Given the description of an element on the screen output the (x, y) to click on. 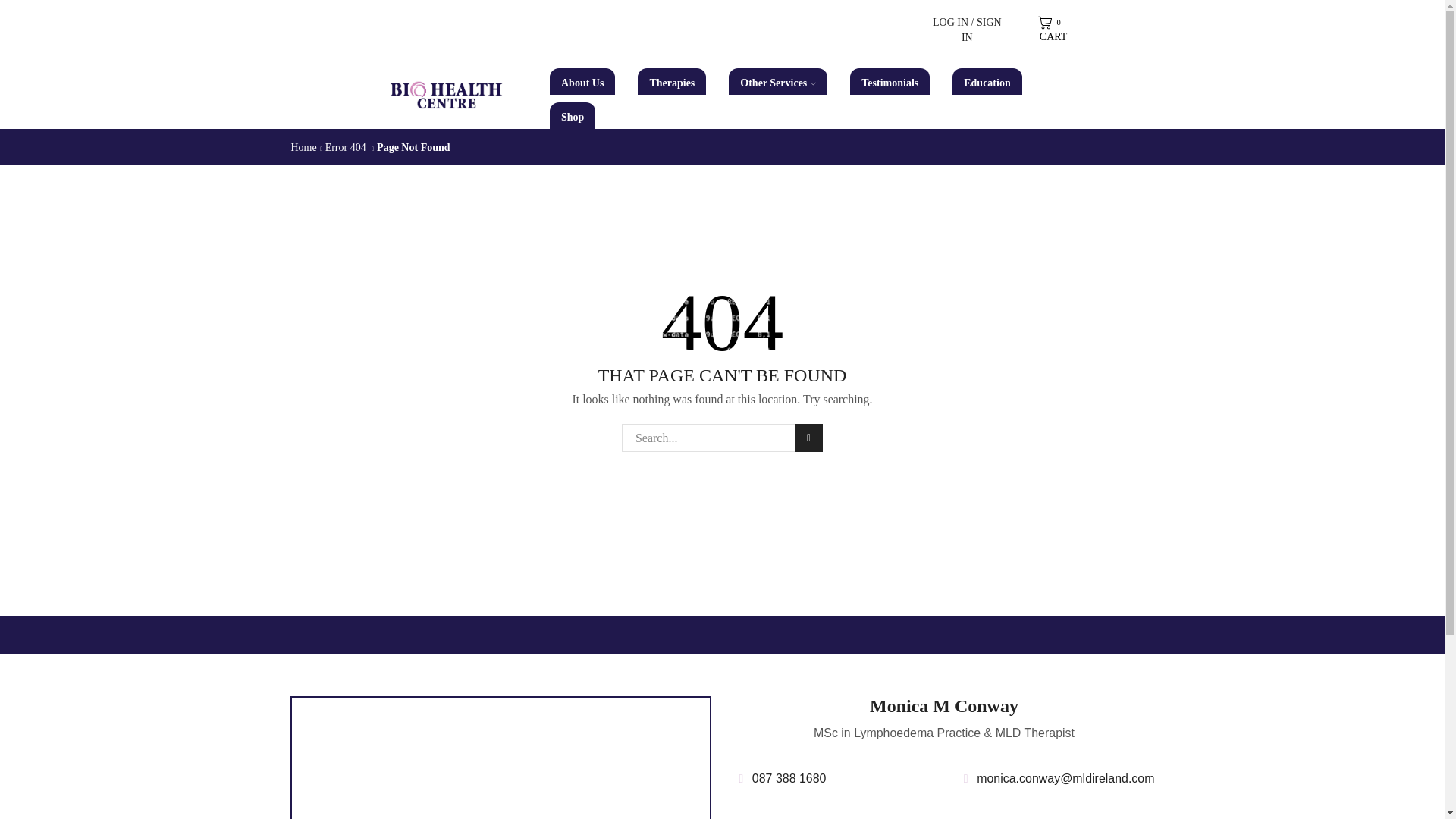
Shop (572, 115)
Other Services (778, 81)
Education (987, 81)
SEARCH (808, 438)
About Us (582, 81)
Log in (890, 239)
087 388 1680 (780, 778)
Testimonials (890, 81)
Therapies (1051, 30)
